Given the description of an element on the screen output the (x, y) to click on. 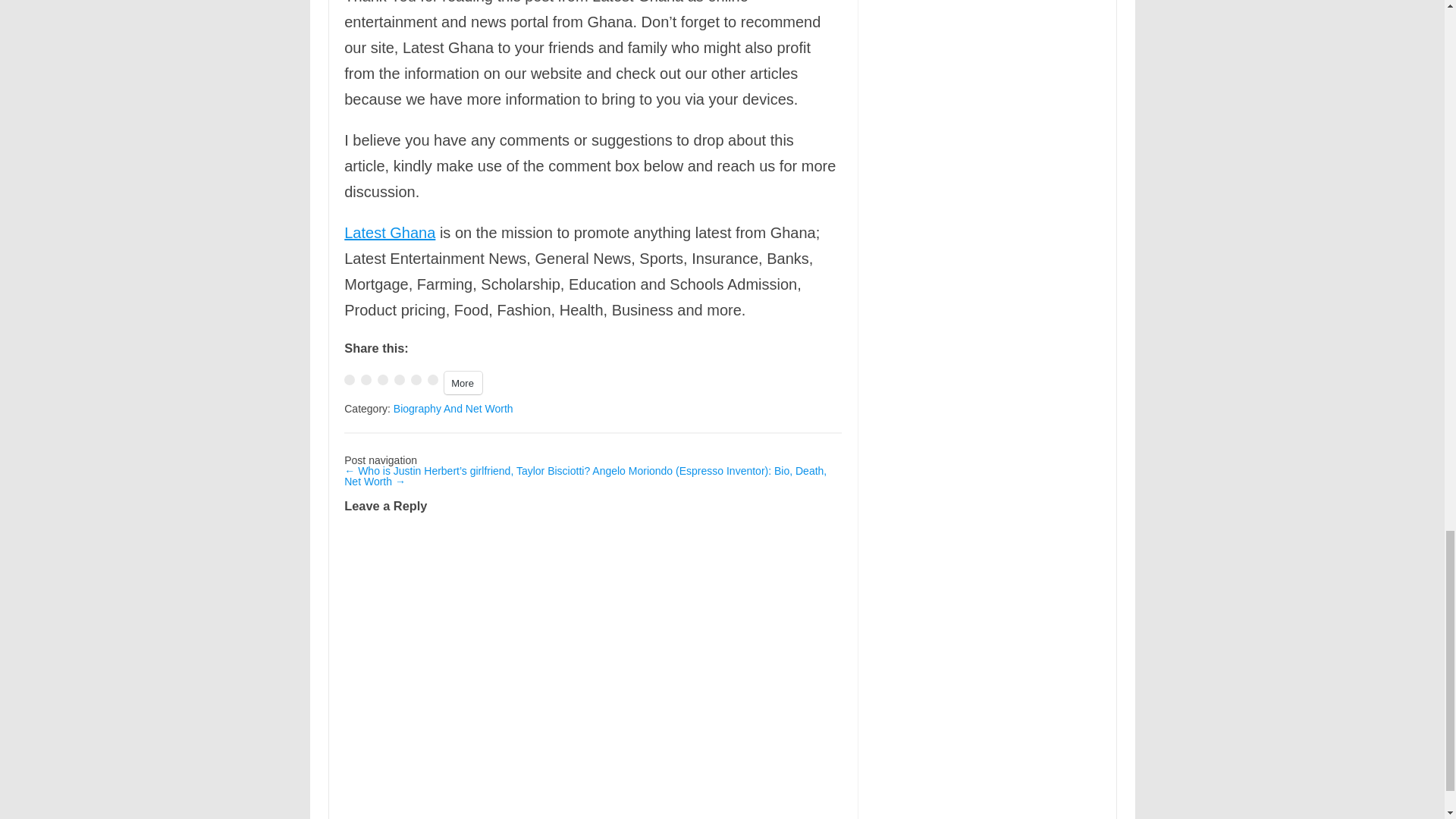
Click to share on Reddit (433, 379)
Click to share on Telegram (399, 379)
Latest Ghana (389, 232)
Click to share on Twitter (366, 379)
Click to share on Pinterest (416, 379)
Biography And Net Worth (453, 408)
More (462, 382)
Click to share on WhatsApp (382, 379)
Click to share on Facebook (349, 379)
